Given the description of an element on the screen output the (x, y) to click on. 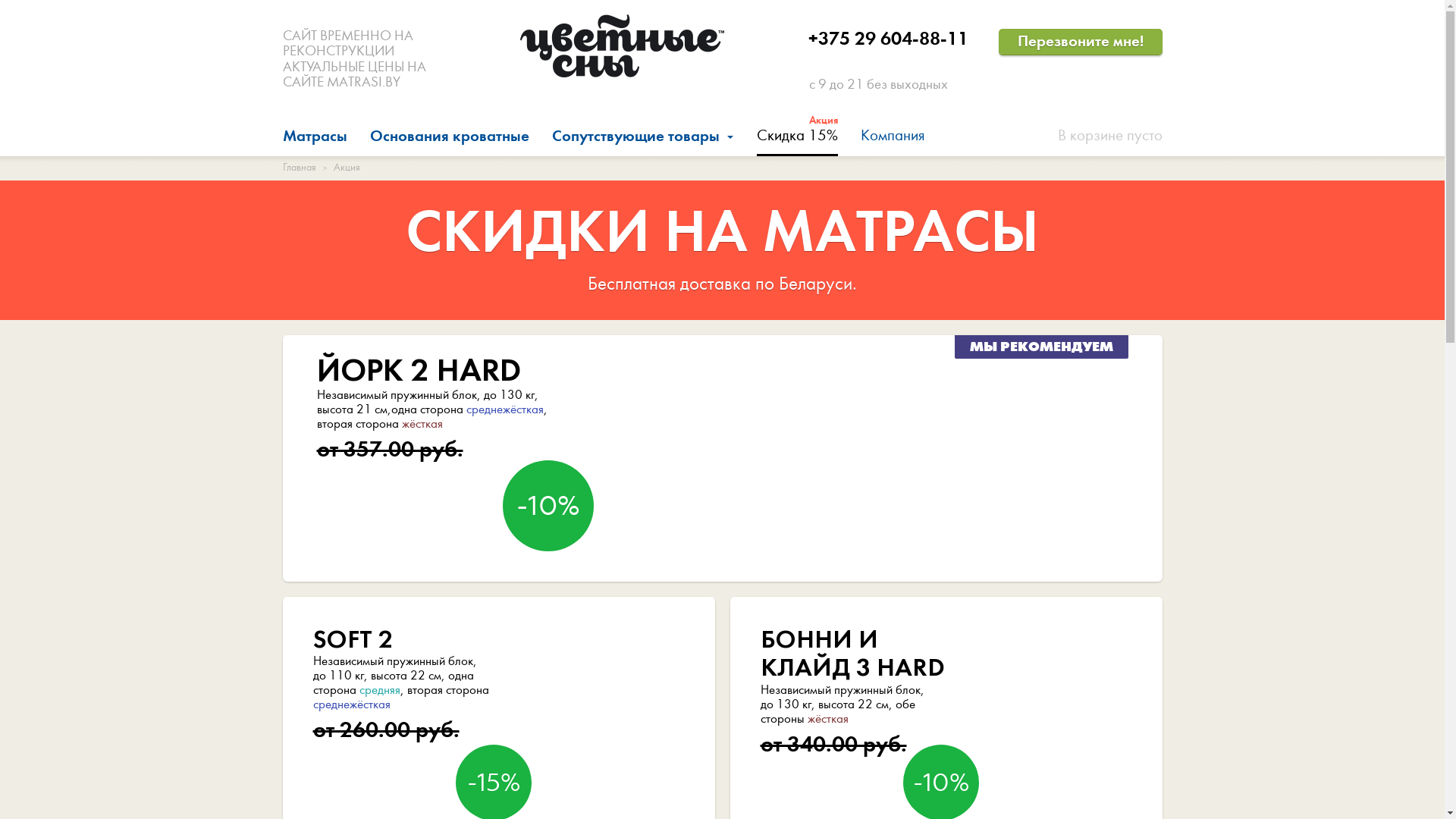
+375 29 604-88-11 Element type: text (888, 39)
